Given the description of an element on the screen output the (x, y) to click on. 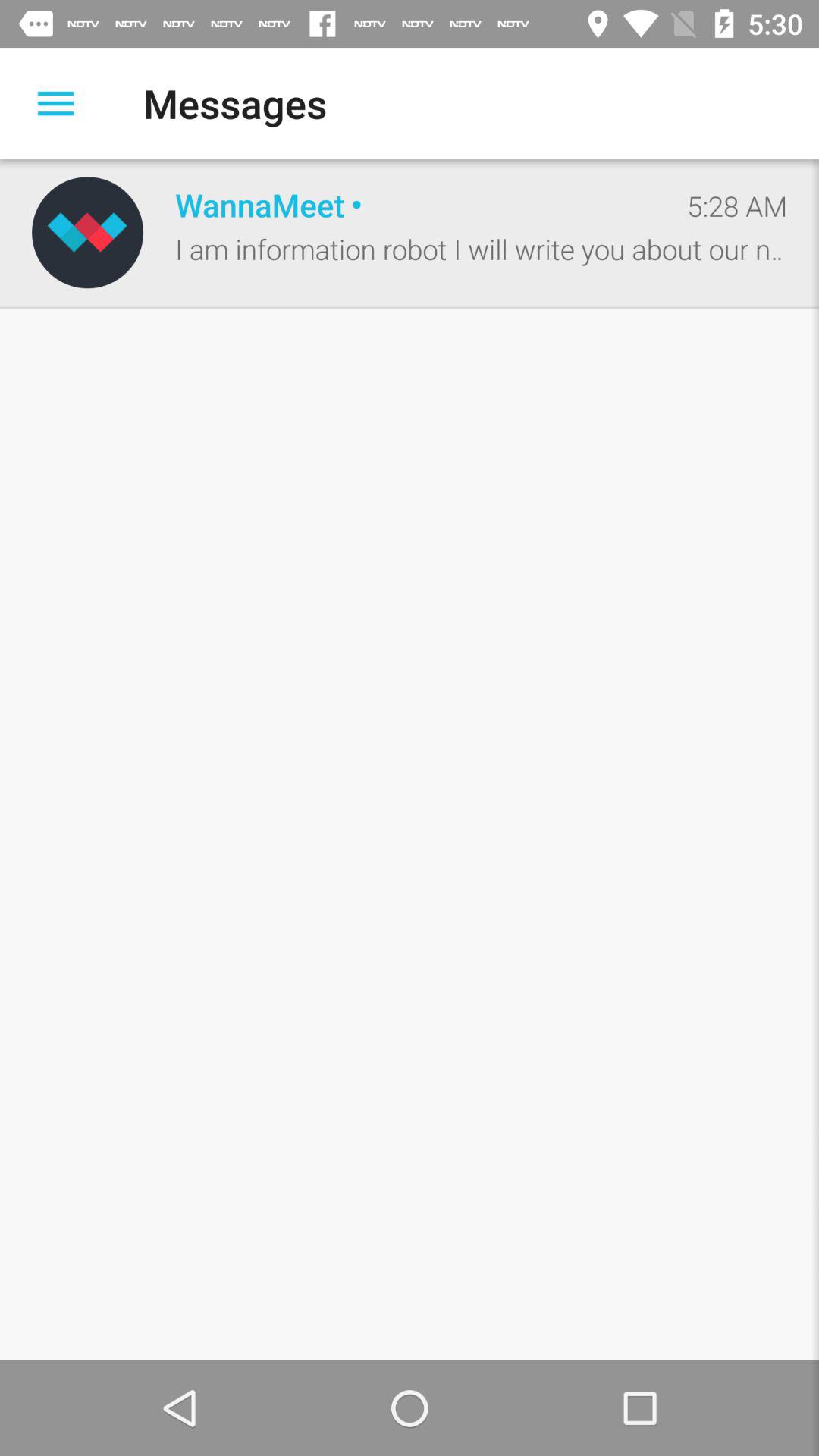
press item to the left of 5:28 am item (415, 204)
